Given the description of an element on the screen output the (x, y) to click on. 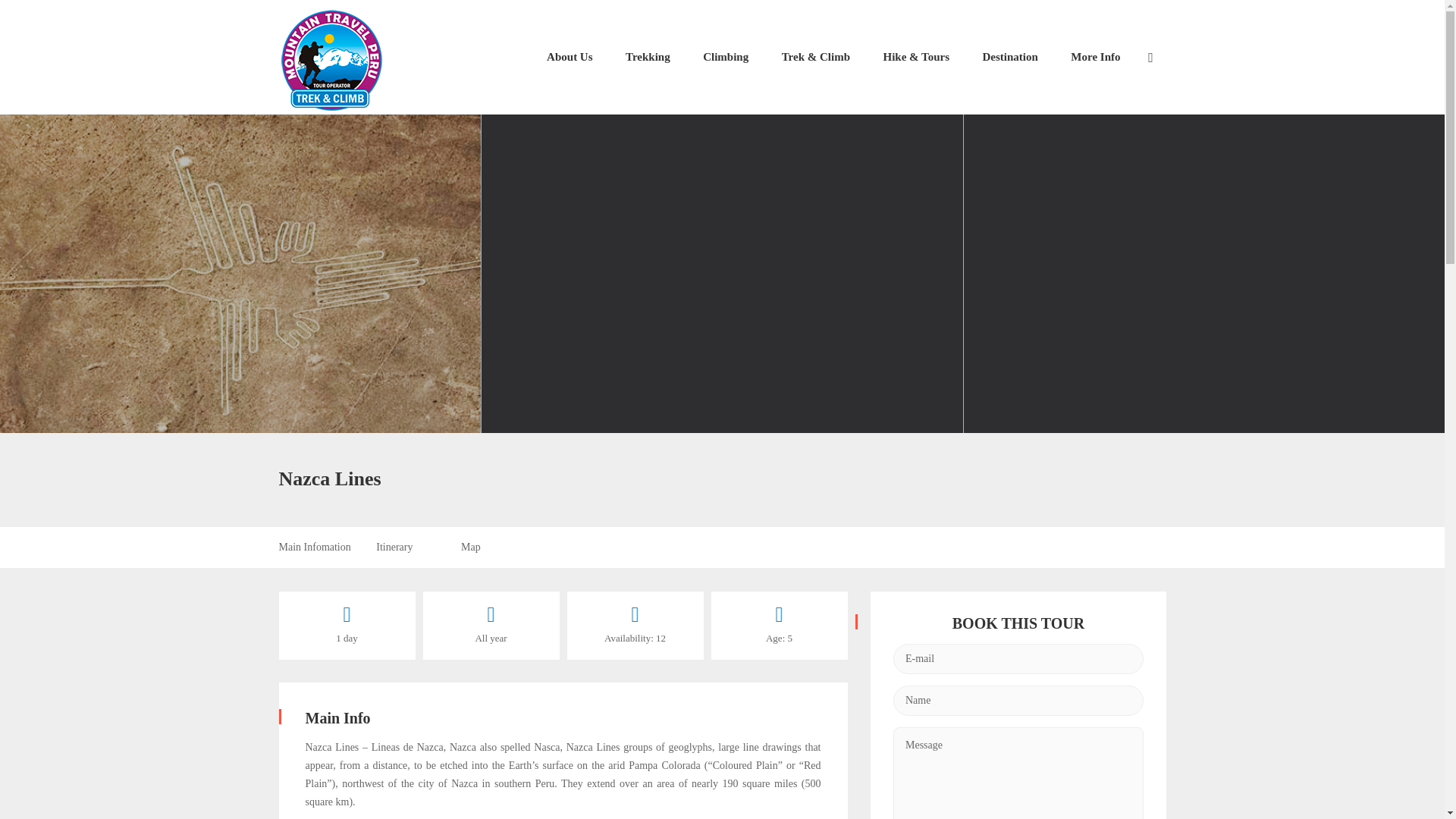
Destination (1010, 57)
Trekking (647, 57)
Climbing (724, 57)
Itinerary (393, 547)
About Us (569, 57)
Main Infomation (314, 547)
More Info (1095, 57)
